Given the description of an element on the screen output the (x, y) to click on. 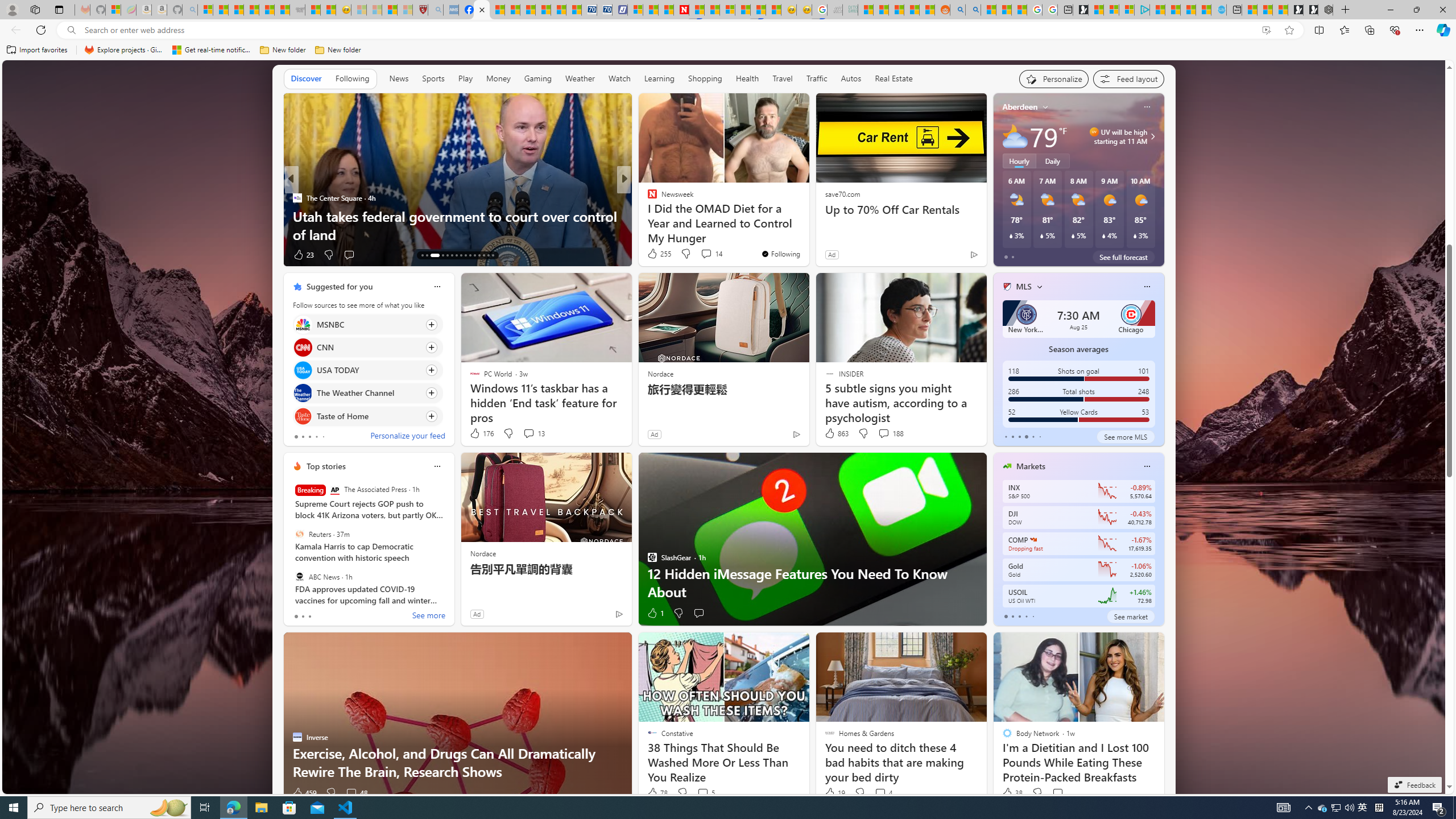
XDA Developers (647, 197)
Study finds bursts of rapid aging at 44 and 60 (807, 234)
View comments 48 Comment (355, 792)
See market (1130, 616)
Skyler Mattress (665, 215)
1 Like (655, 612)
View comments 4 Comment (879, 792)
